Given the description of an element on the screen output the (x, y) to click on. 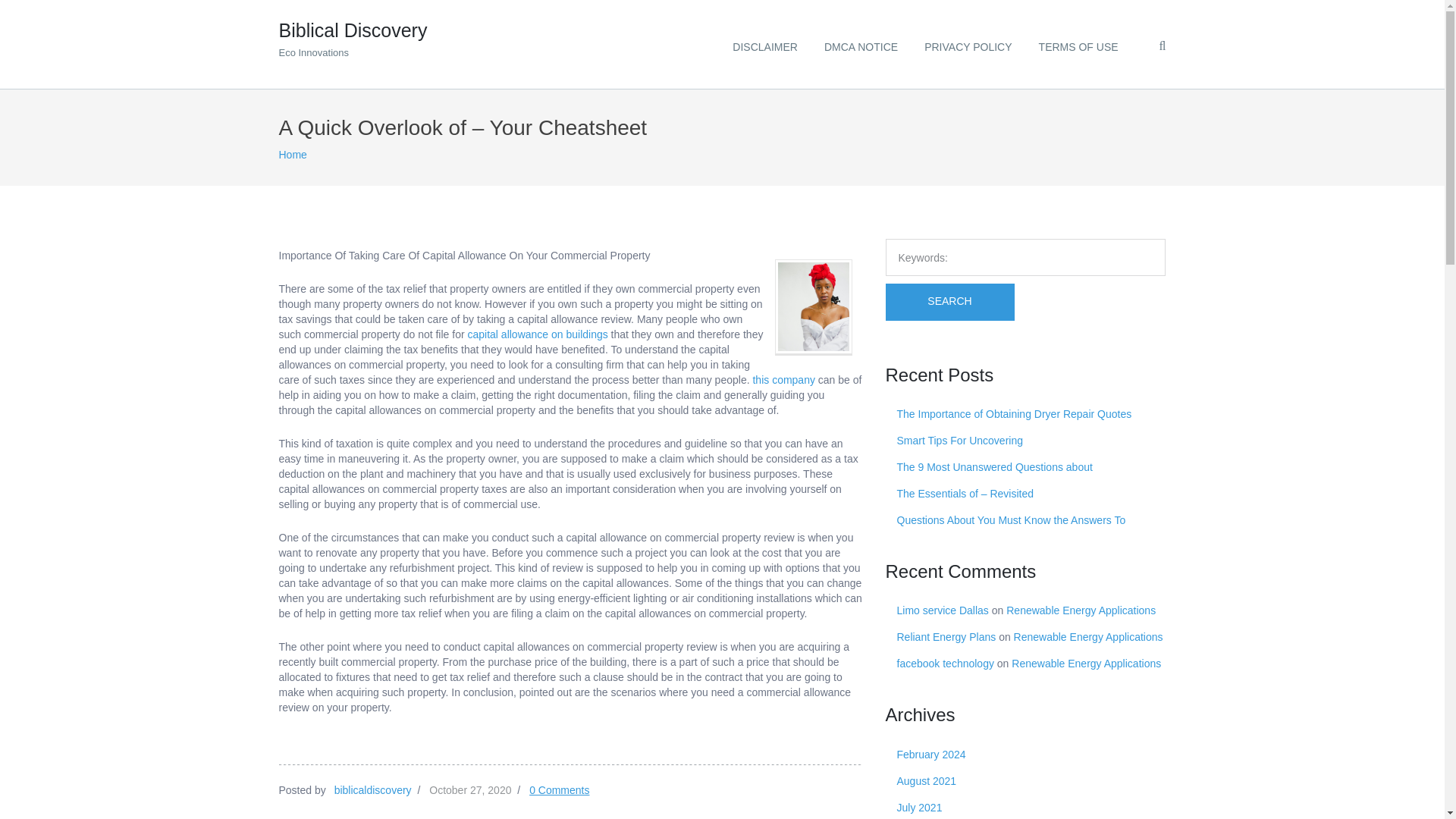
SEARCH (949, 302)
August 2021 (926, 780)
this company (782, 379)
Renewable Energy Applications (1085, 663)
PRIVACY POLICY (967, 44)
Home (293, 154)
TERMS OF USE (1078, 44)
Limo service Dallas (942, 610)
Posts by biblicaldiscovery (373, 789)
February 2024 (353, 34)
Questions About You Must Know the Answers To (930, 754)
The 9 Most Unanswered Questions about (1010, 520)
0 Comments (994, 467)
capital allowance on buildings (559, 789)
